Given the description of an element on the screen output the (x, y) to click on. 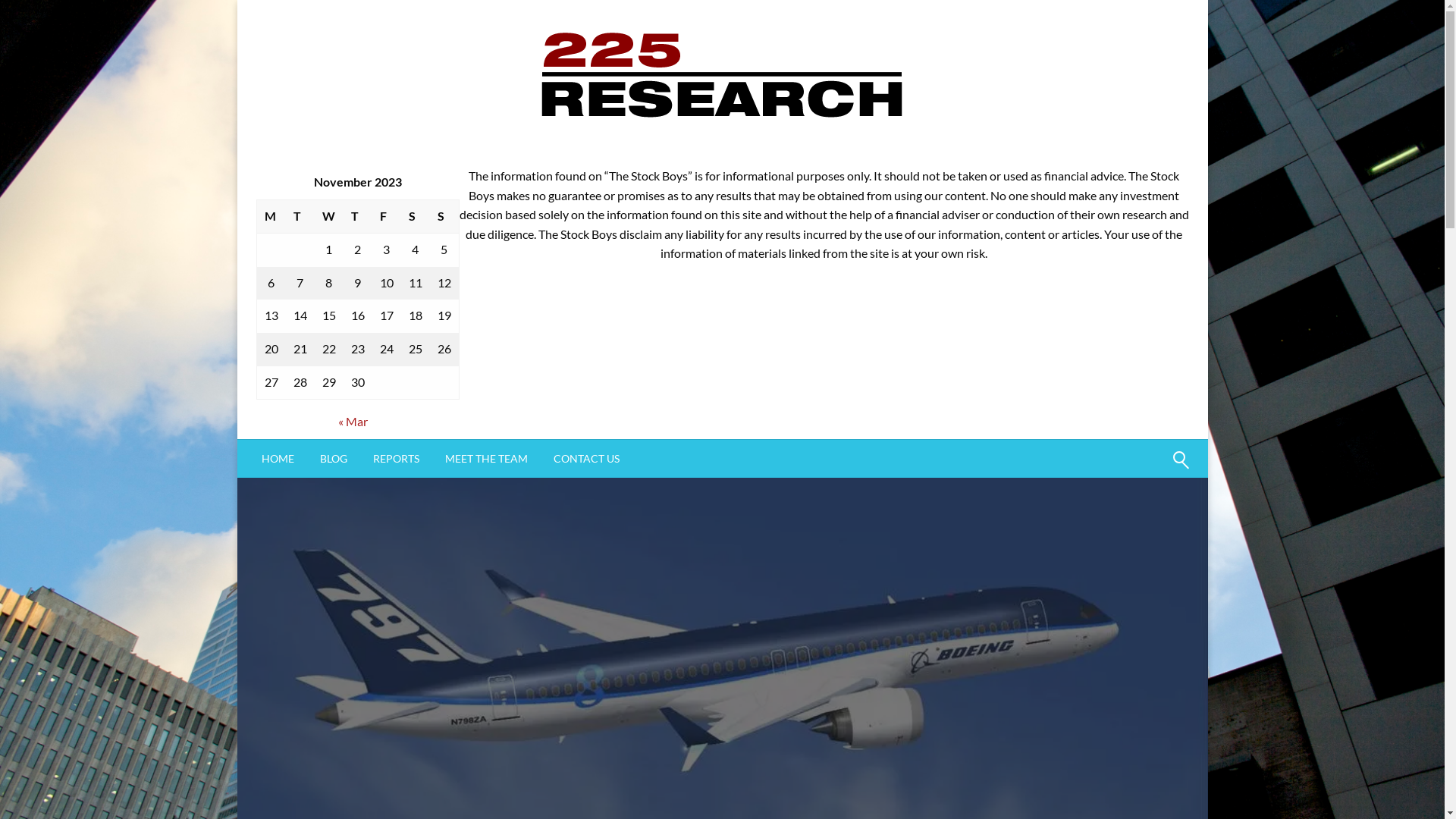
REPORTS Element type: text (395, 458)
CONTACT US Element type: text (585, 458)
225Research Element type: text (614, 171)
HOME Element type: text (277, 458)
MEET THE TEAM Element type: text (486, 458)
Search Element type: text (1143, 469)
BLOG Element type: text (332, 458)
